Given the description of an element on the screen output the (x, y) to click on. 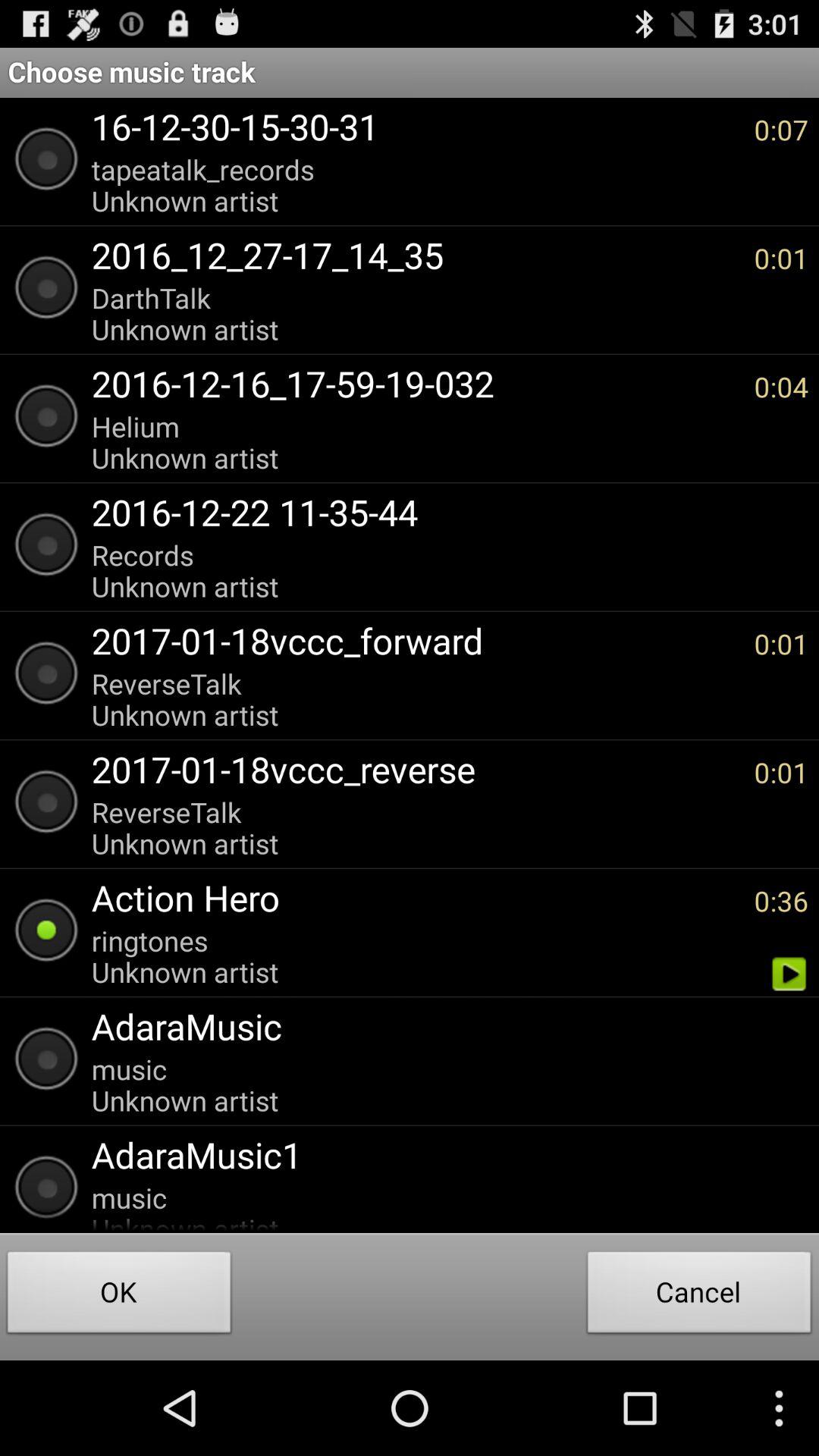
open button next to the ok button (699, 1296)
